Given the description of an element on the screen output the (x, y) to click on. 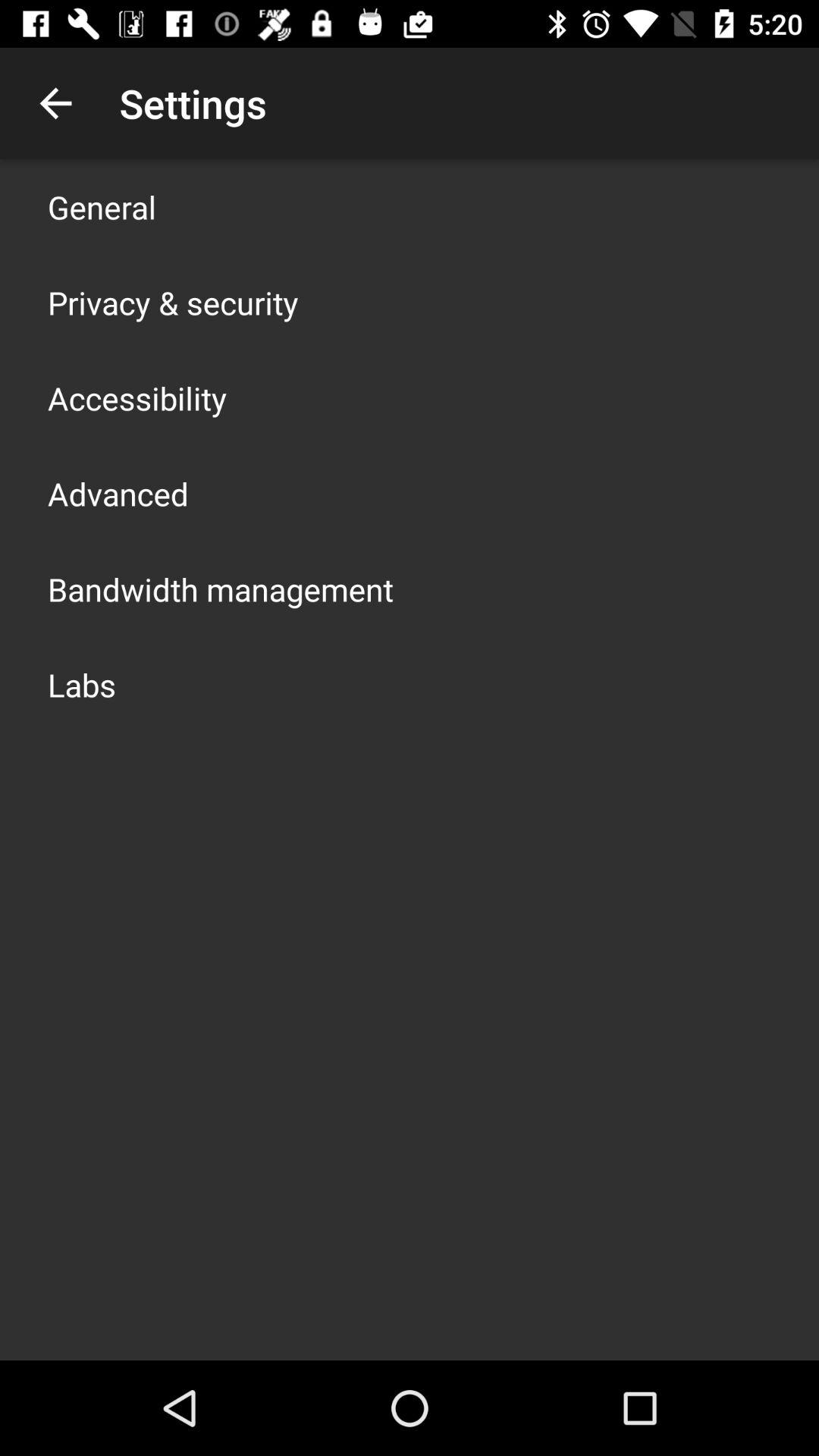
turn on item to the left of the settings item (55, 103)
